Given the description of an element on the screen output the (x, y) to click on. 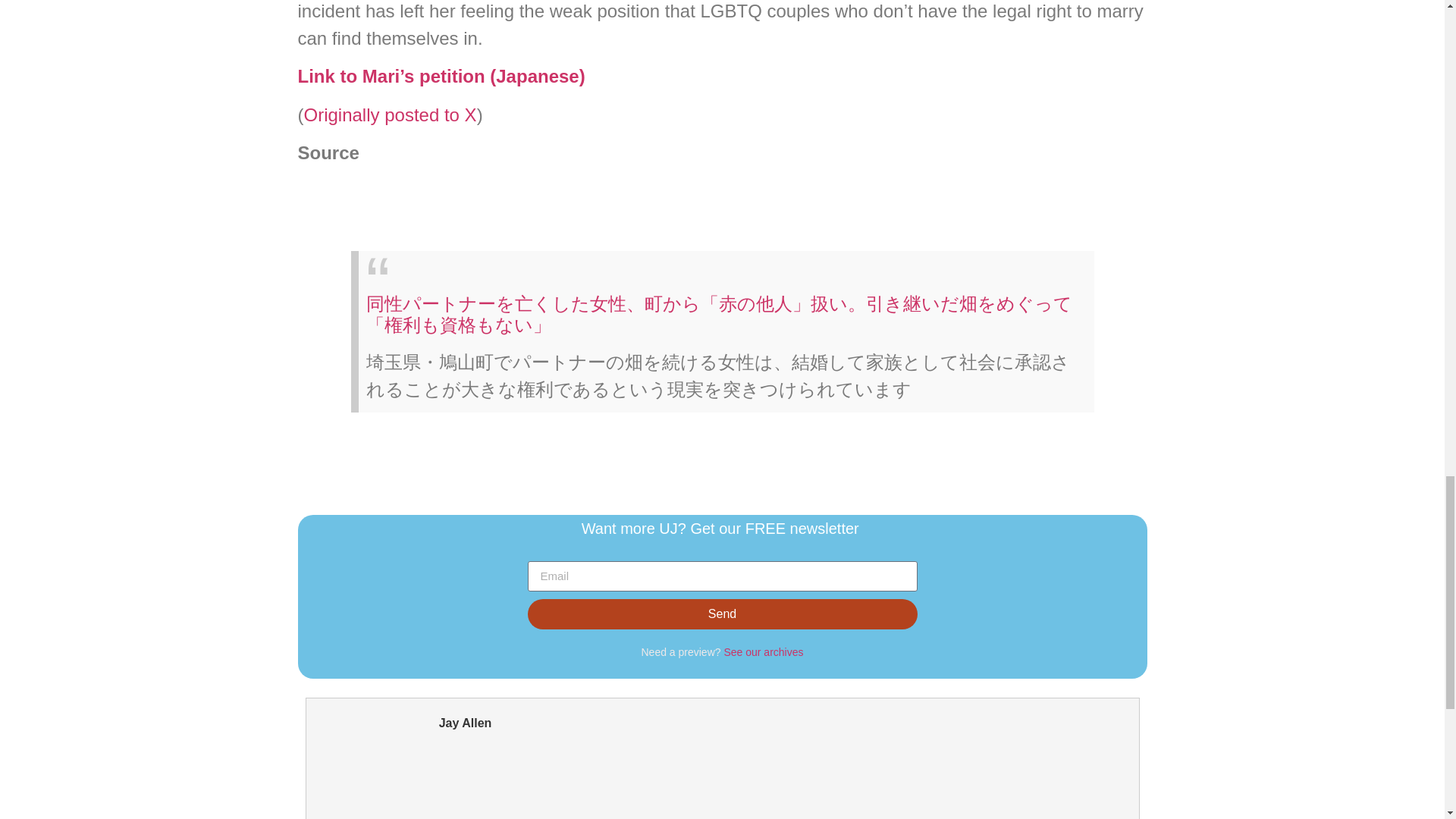
Originally posted to X (389, 114)
Send (722, 613)
See our archives (763, 652)
